Given the description of an element on the screen output the (x, y) to click on. 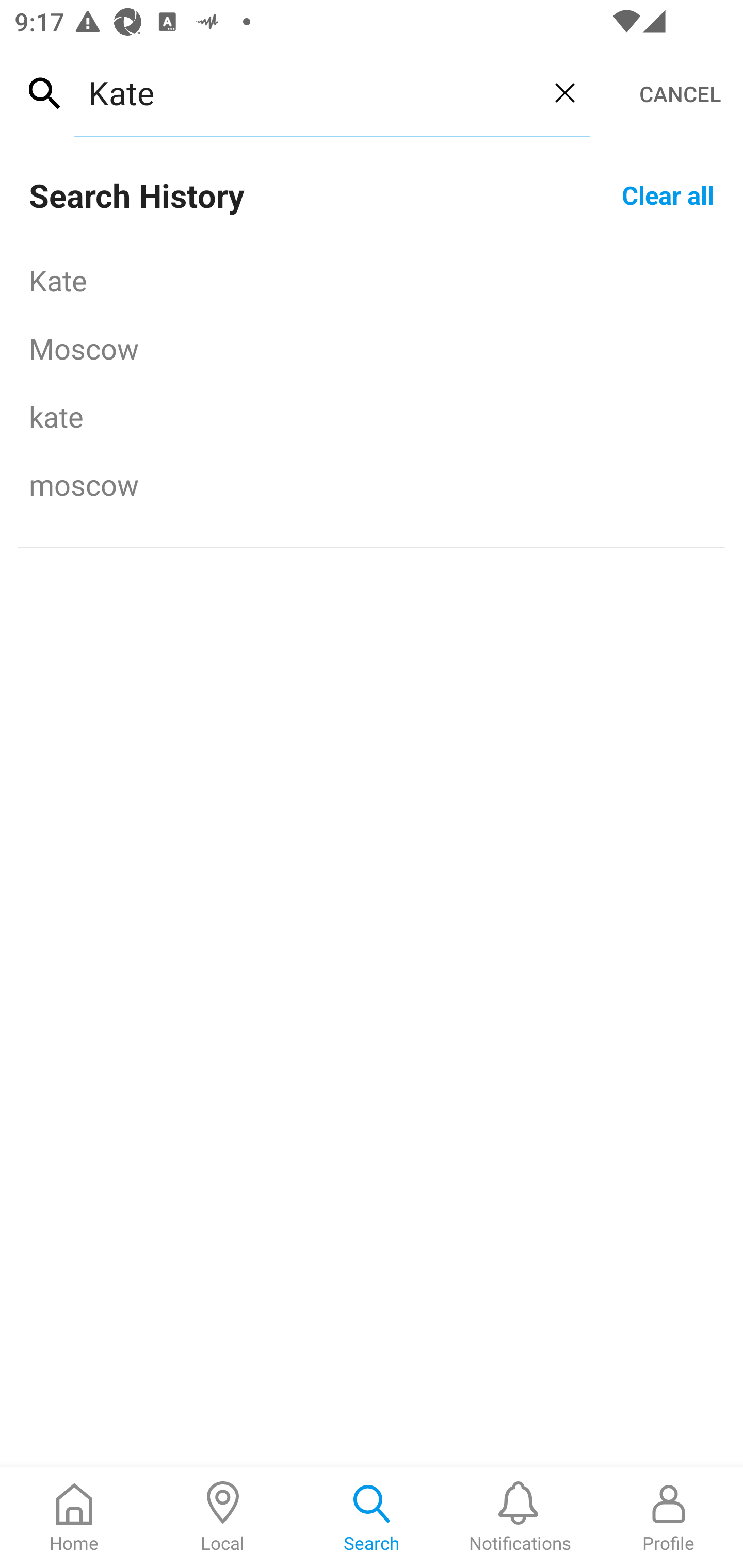
Clear query (564, 92)
CANCEL (680, 93)
Kate (306, 92)
Clear all (667, 194)
Kate (371, 279)
Moscow (371, 347)
kate (371, 416)
moscow (371, 484)
Home (74, 1517)
Local (222, 1517)
Notifications (519, 1517)
Profile (668, 1517)
